Given the description of an element on the screen output the (x, y) to click on. 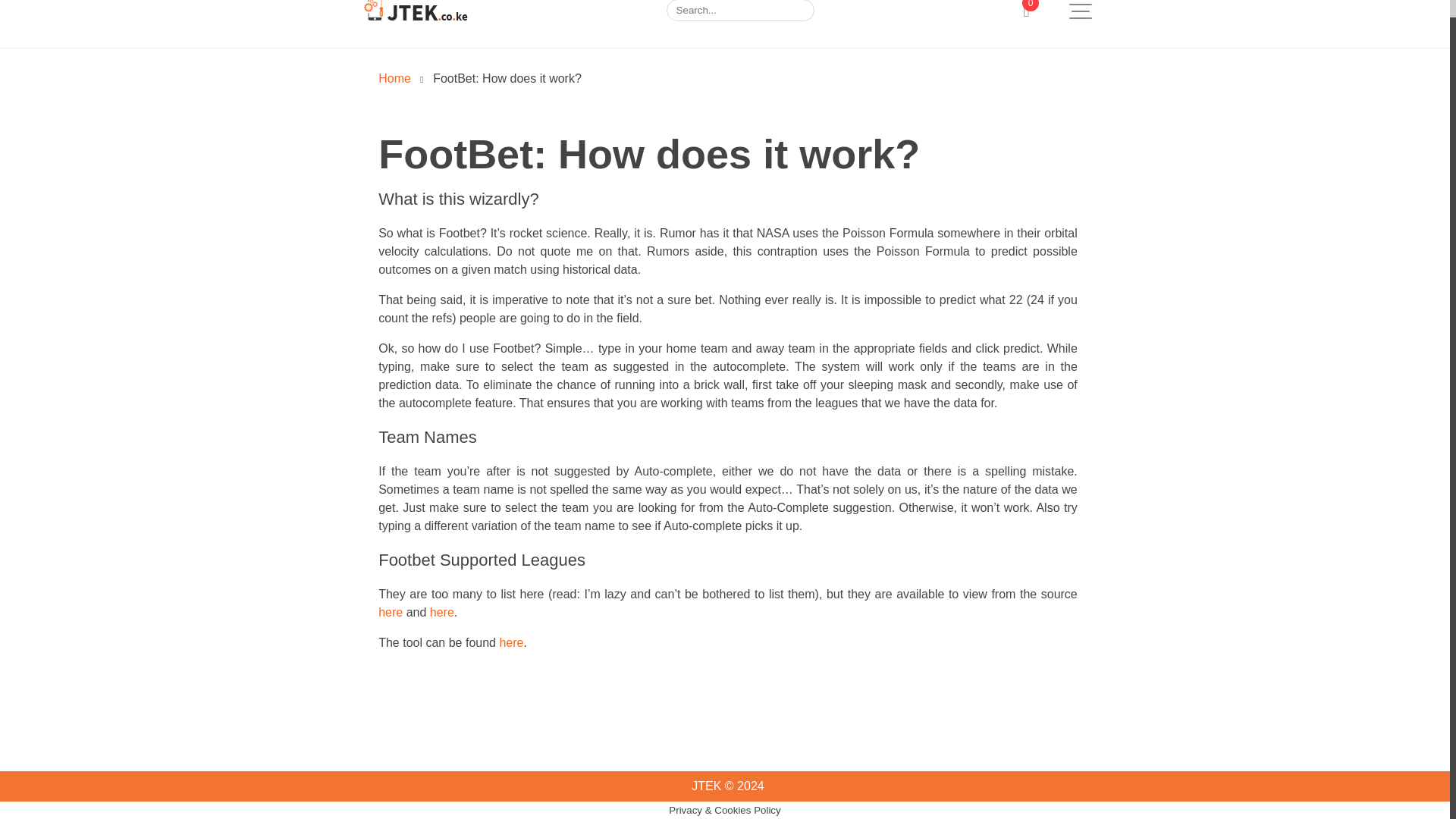
Home (394, 78)
JTEK (394, 78)
here (390, 612)
here (441, 612)
here (510, 642)
